Given the description of an element on the screen output the (x, y) to click on. 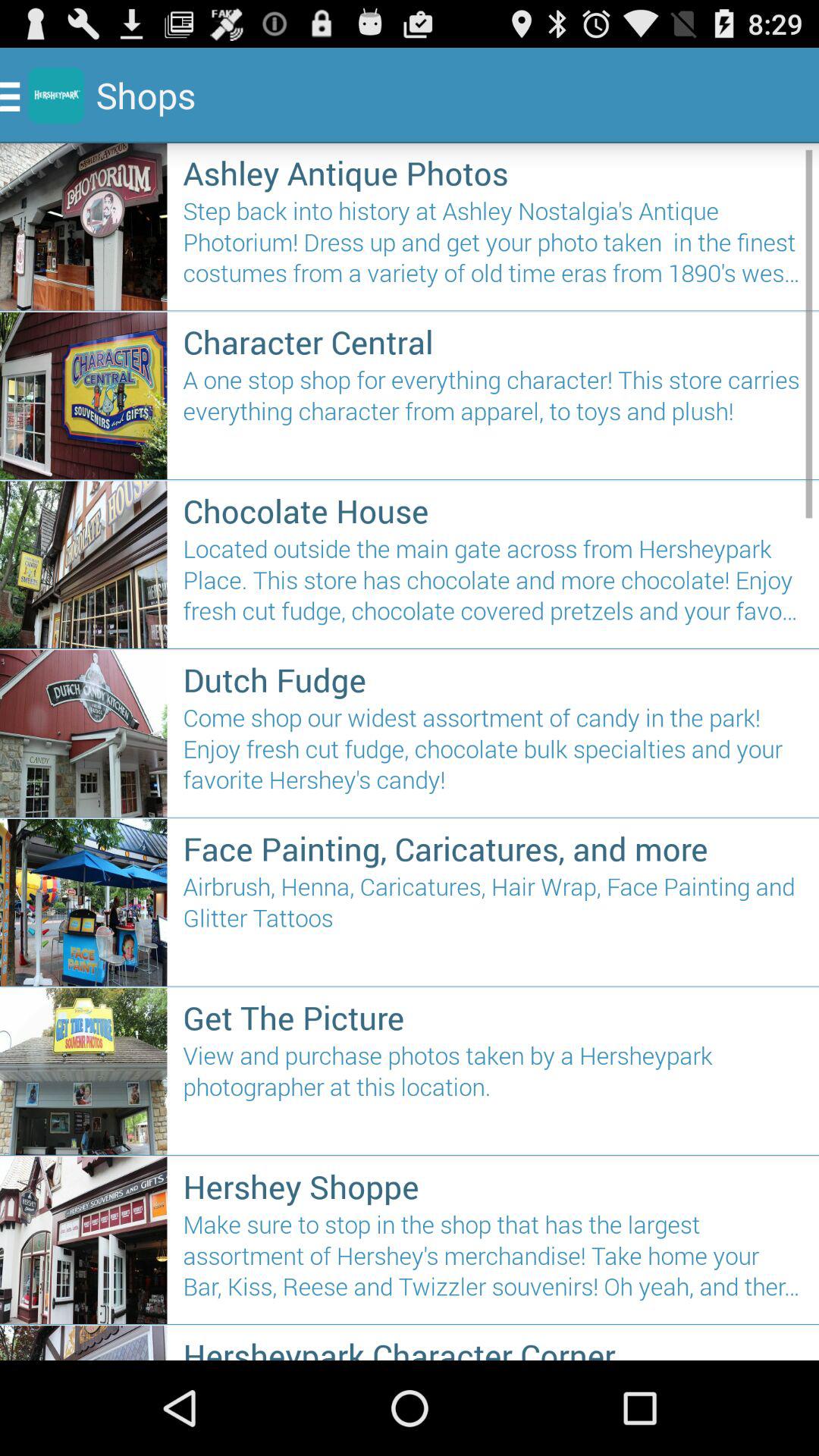
swipe to view and purchase icon (493, 1093)
